Given the description of an element on the screen output the (x, y) to click on. 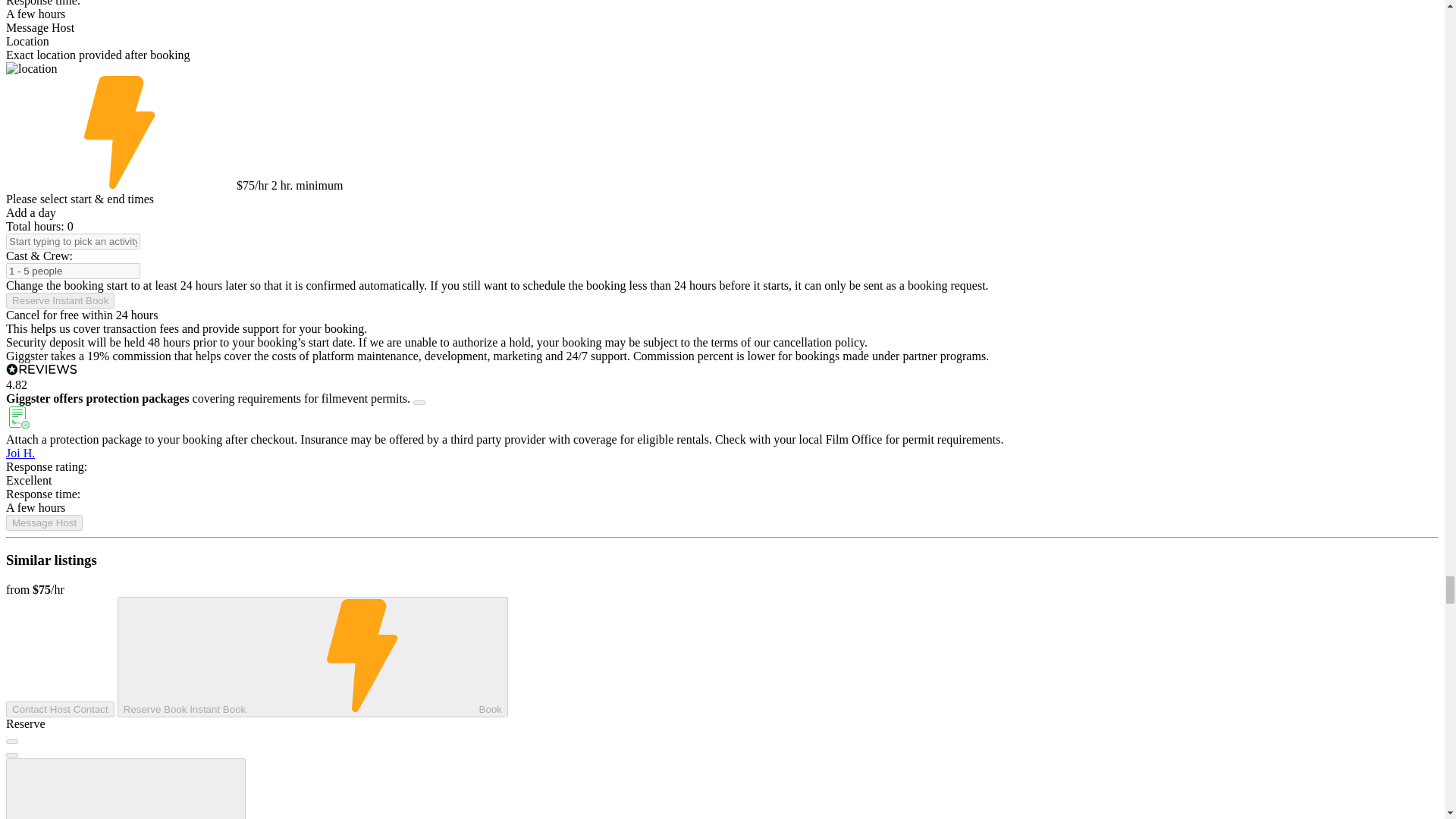
1 - 5 people (72, 270)
Instant Book (118, 132)
Back (125, 788)
